Given the description of an element on the screen output the (x, y) to click on. 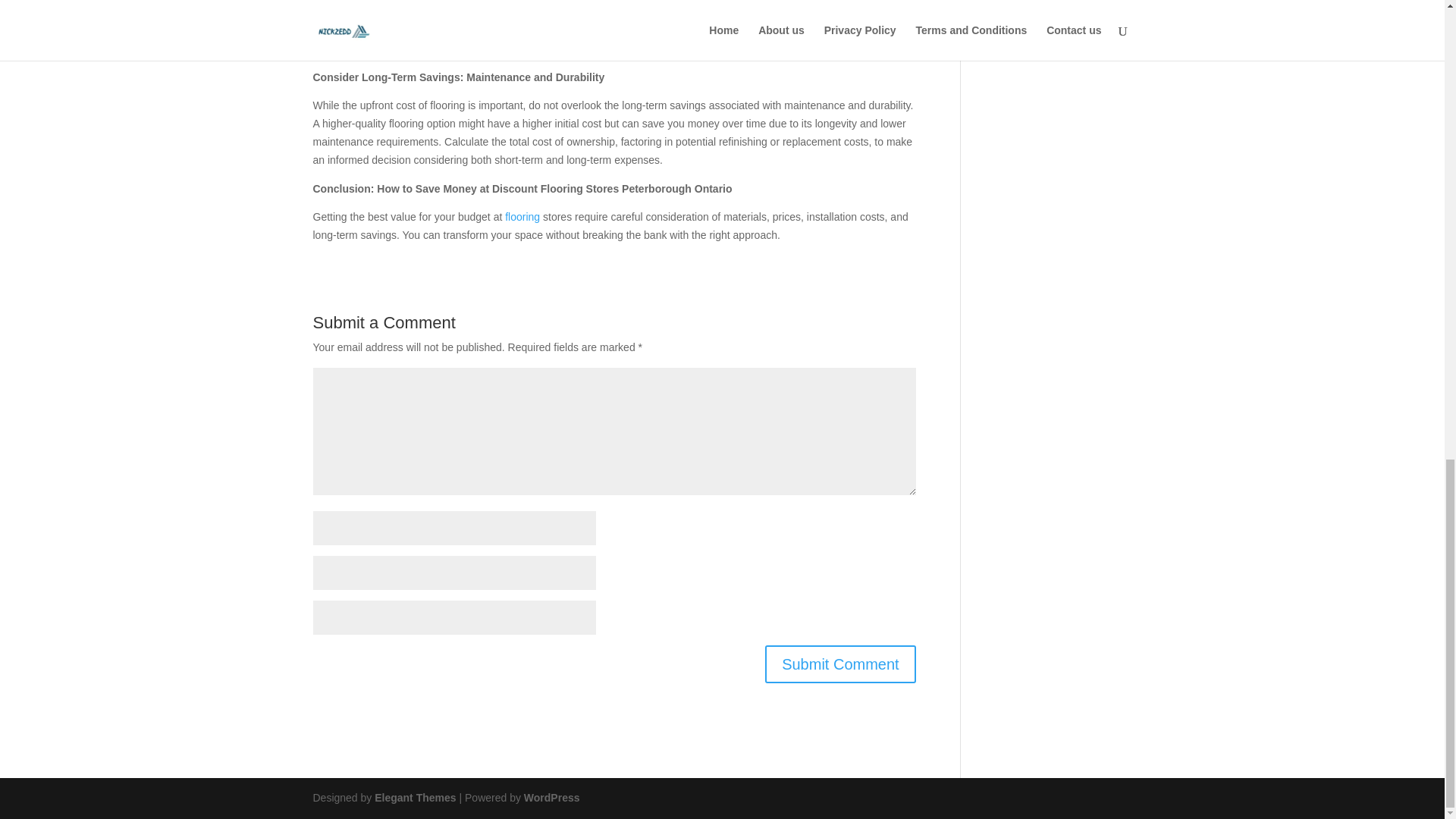
Elegant Themes (414, 797)
Premium WordPress Themes (414, 797)
flooring (522, 216)
WordPress (551, 797)
Submit Comment (840, 664)
Submit Comment (840, 664)
